Given the description of an element on the screen output the (x, y) to click on. 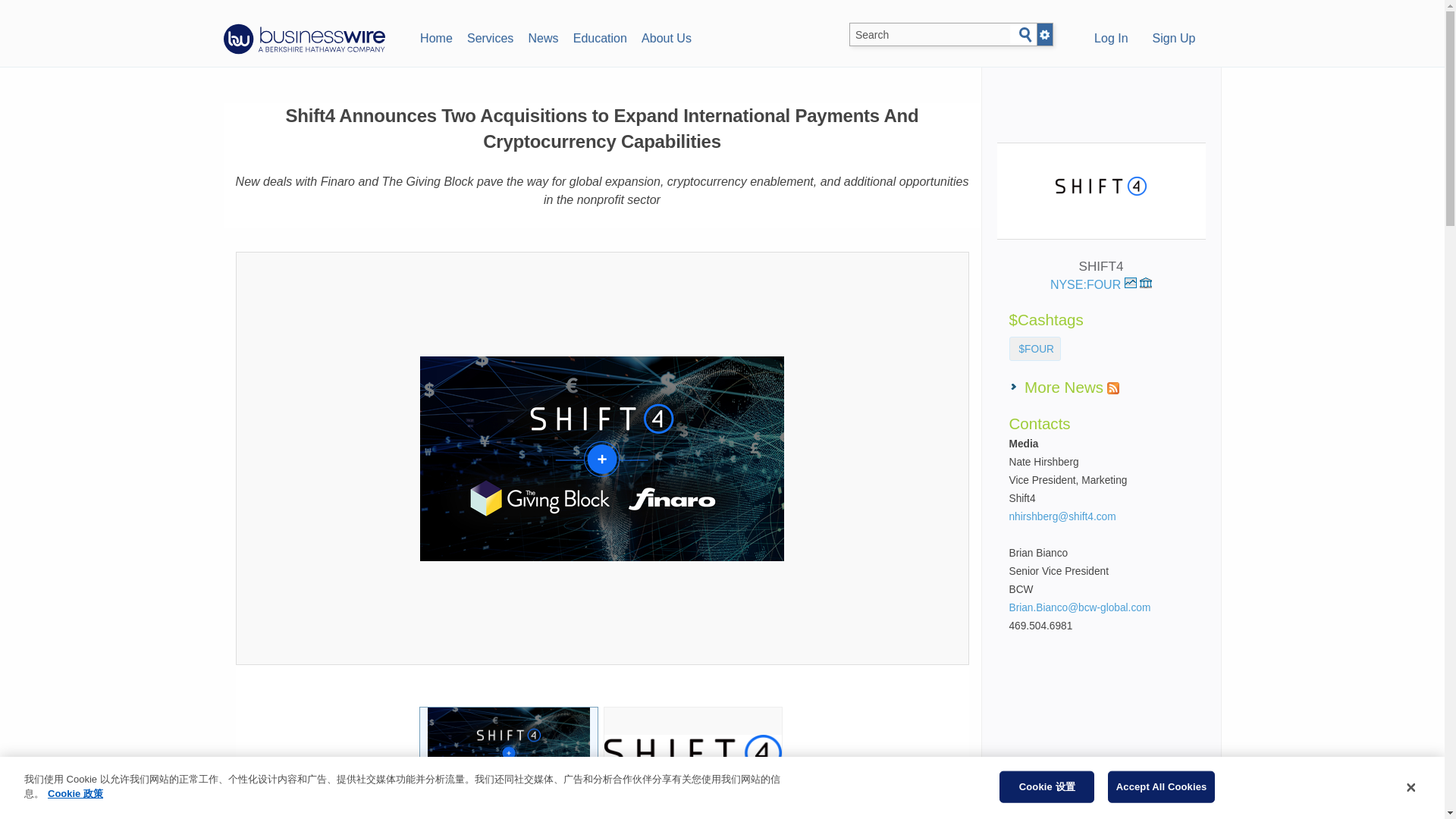
View SEC Filings (1145, 282)
RSS feed for null (1112, 387)
Home (436, 36)
News (543, 36)
NYSE:FOUR (1093, 284)
Services (490, 36)
View stock quote and chart (1130, 282)
